Given the description of an element on the screen output the (x, y) to click on. 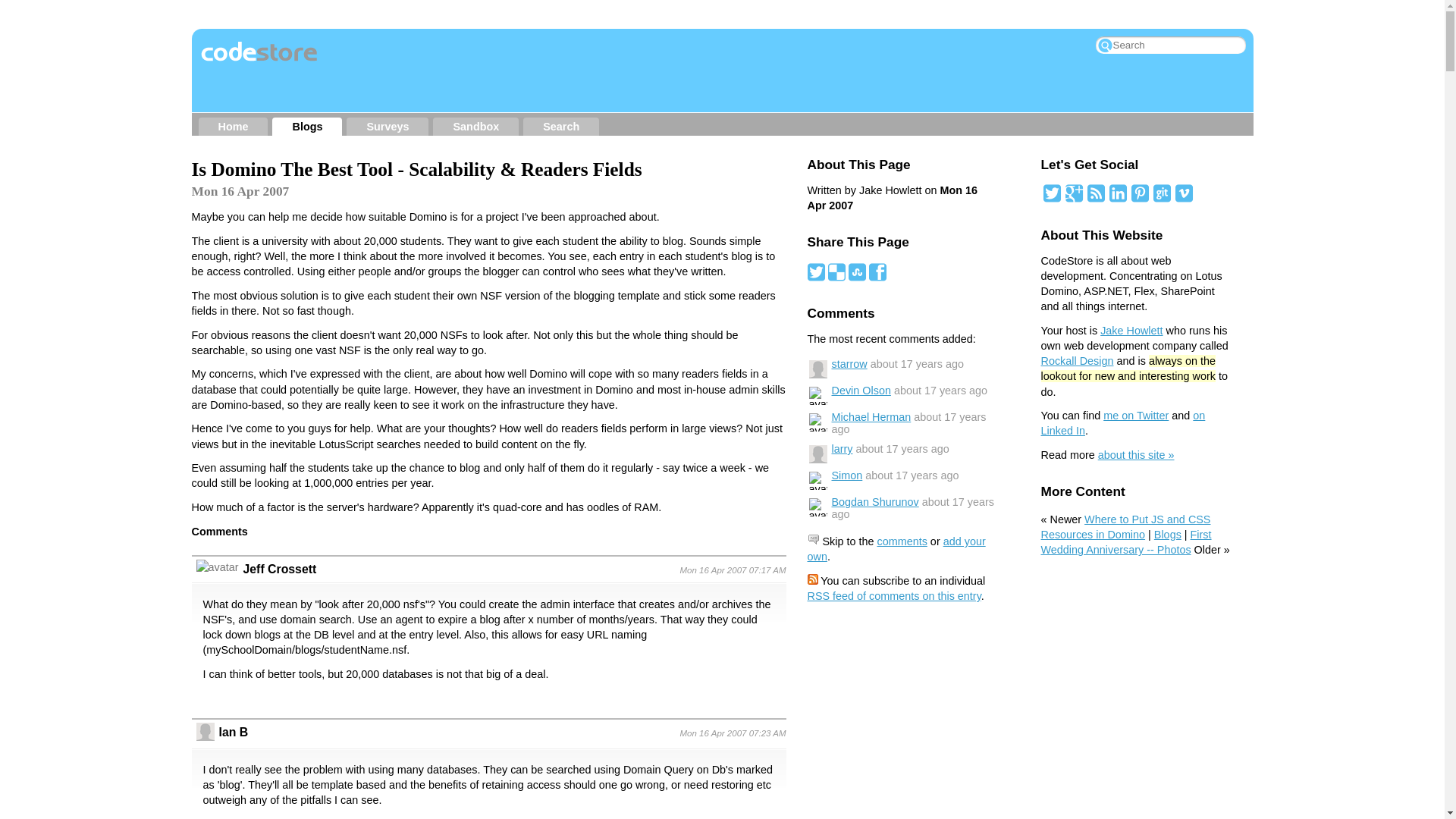
Blogs (306, 126)
List of sample databases available for download (475, 126)
Home (233, 126)
Perform an advanced search of the archives (560, 126)
Sandbox (475, 126)
Home page (233, 126)
Read the regularly updated weblog (306, 126)
Search (560, 126)
Latest surveys on codestore (387, 126)
Surveys (387, 126)
Jeff Crossett (279, 568)
